Given the description of an element on the screen output the (x, y) to click on. 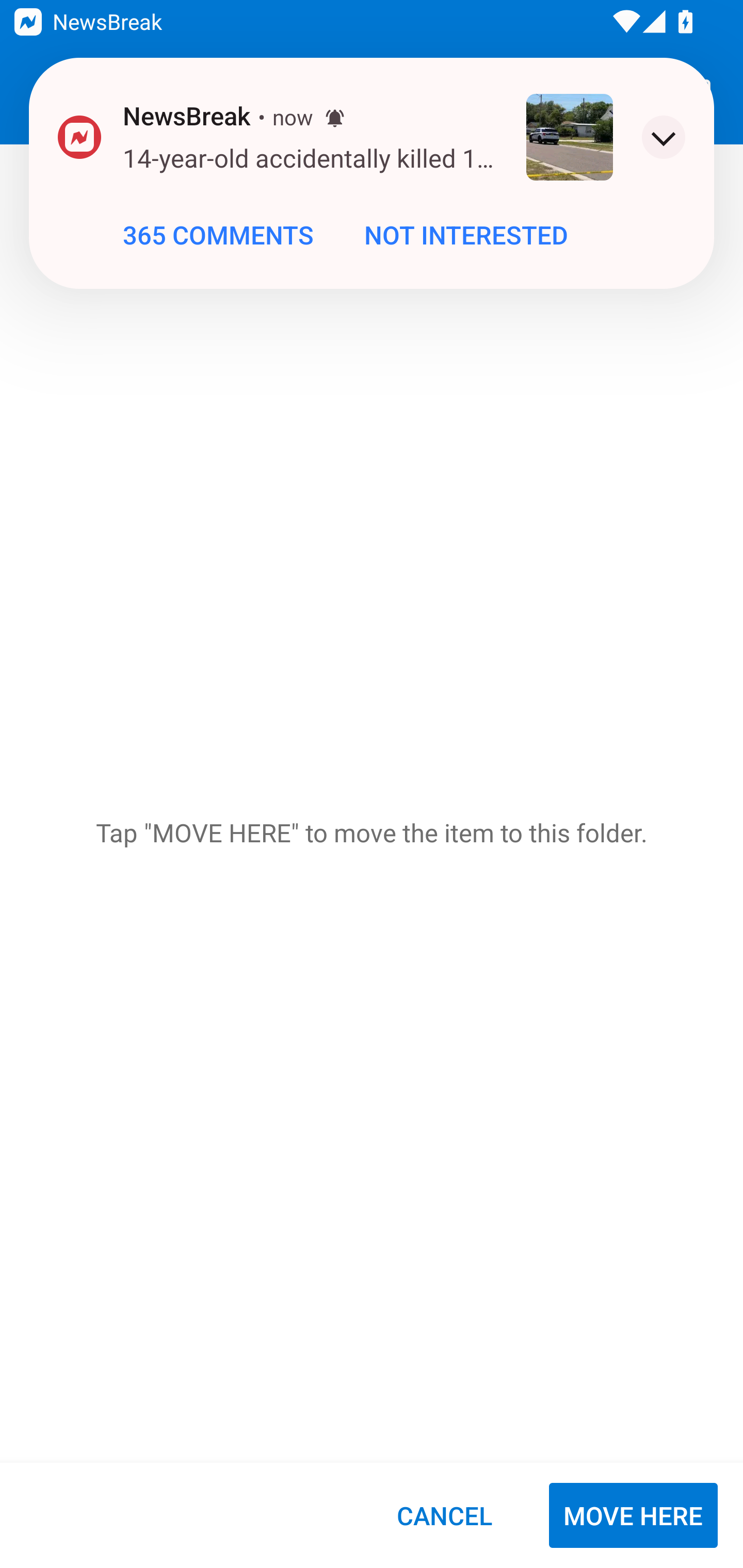
CANCEL (443, 1515)
MOVE HERE (633, 1515)
